Given the description of an element on the screen output the (x, y) to click on. 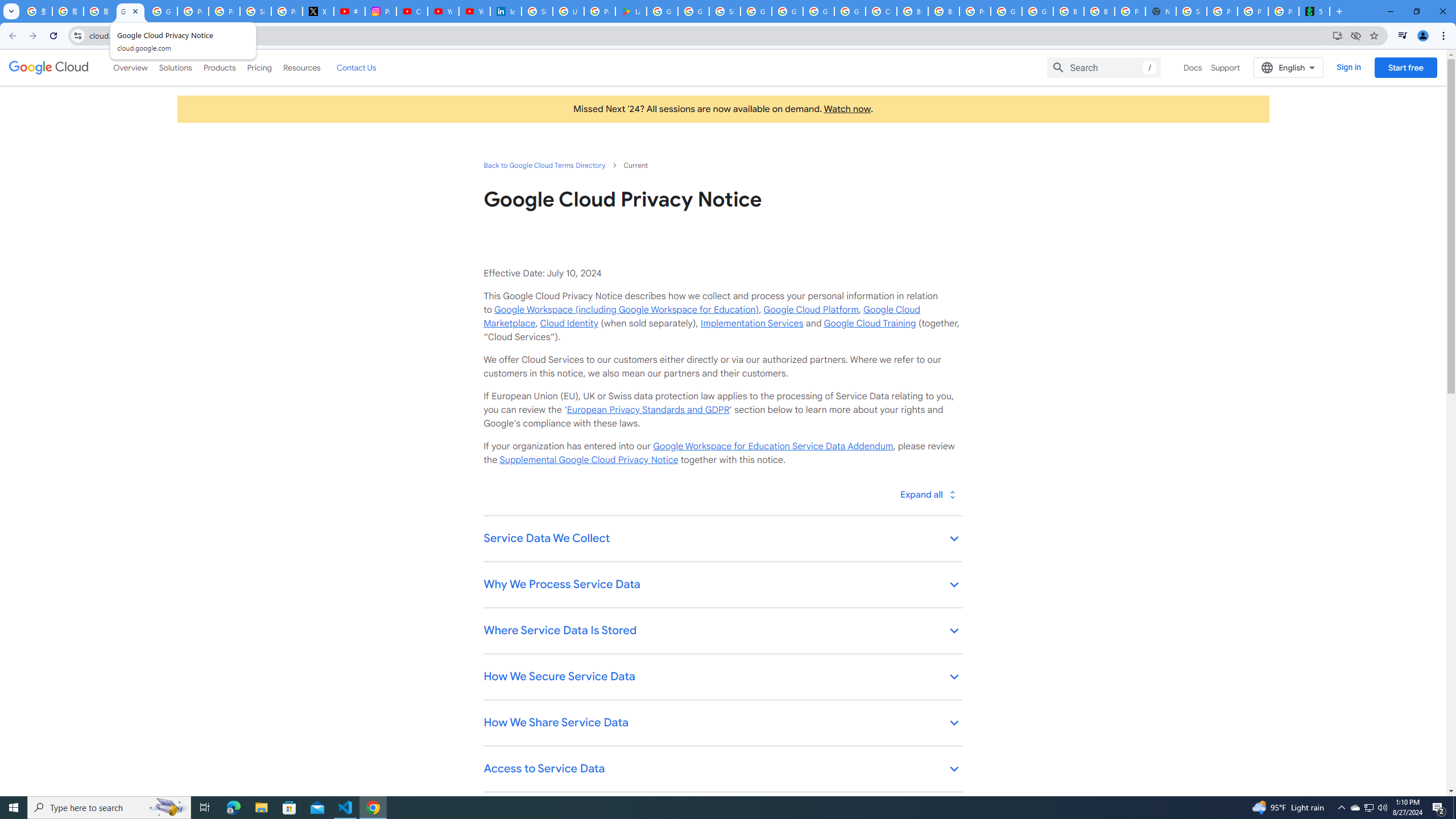
Privacy Help Center - Policies Help (223, 11)
Google Cloud Marketplace (701, 316)
Start free (1405, 67)
Browse Chrome as a guest - Computer - Google Chrome Help (912, 11)
Google Cloud Platform (1037, 11)
